Given the description of an element on the screen output the (x, y) to click on. 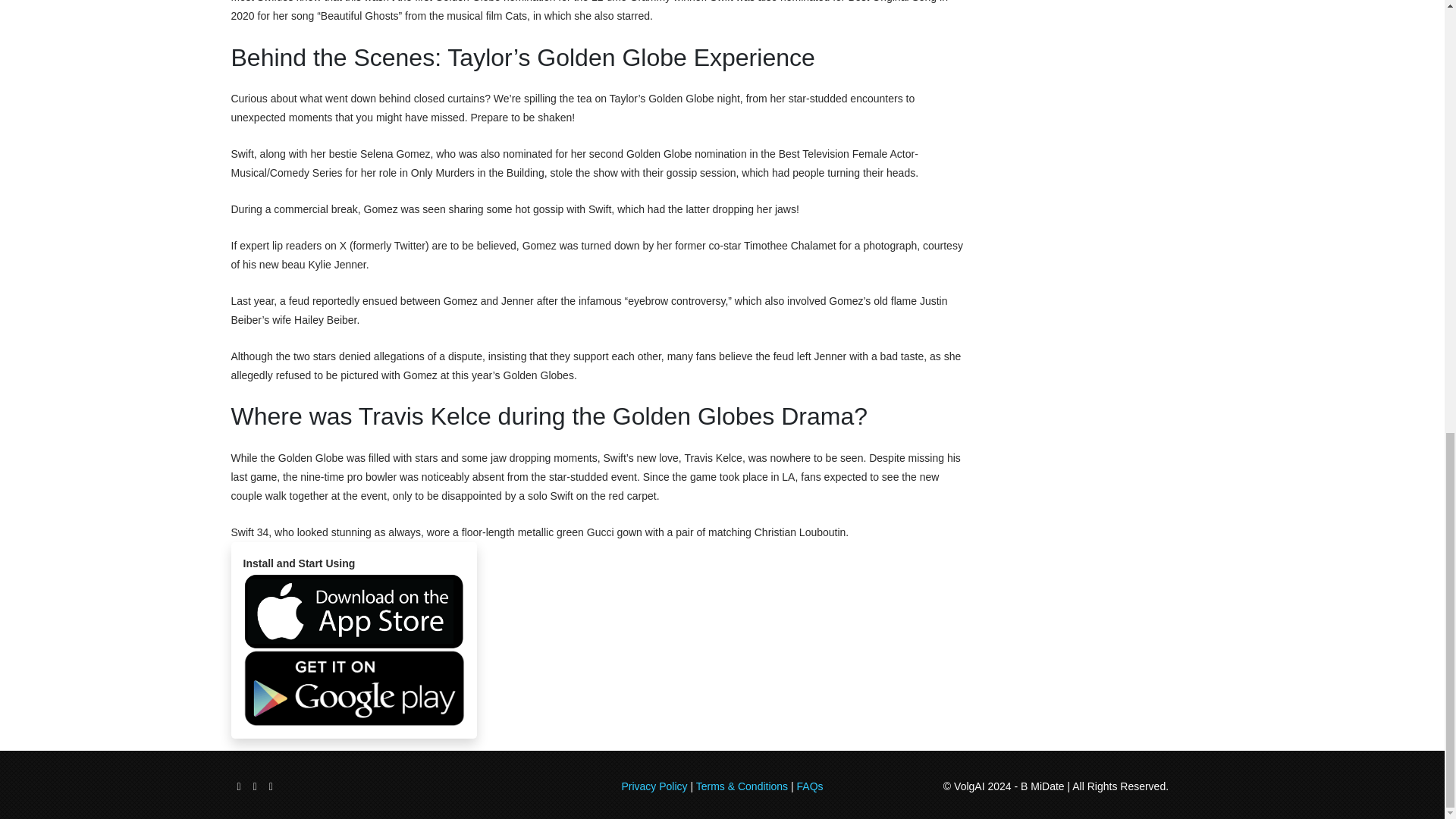
VolgAI (968, 786)
Privacy Policy (654, 786)
FAQs (810, 786)
